Given the description of an element on the screen output the (x, y) to click on. 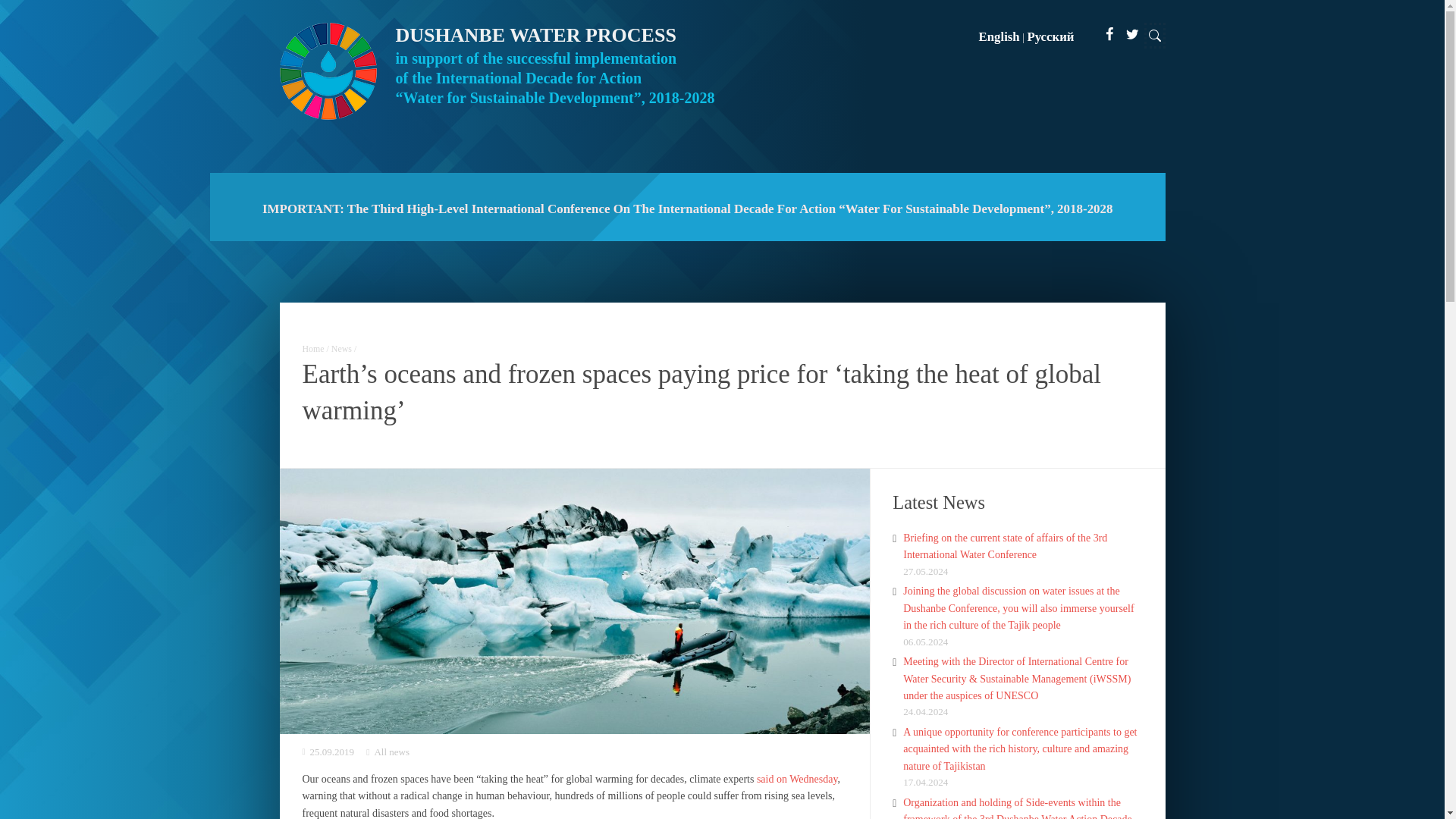
Facebook (1109, 33)
English (999, 36)
Twitter (1131, 33)
